Given the description of an element on the screen output the (x, y) to click on. 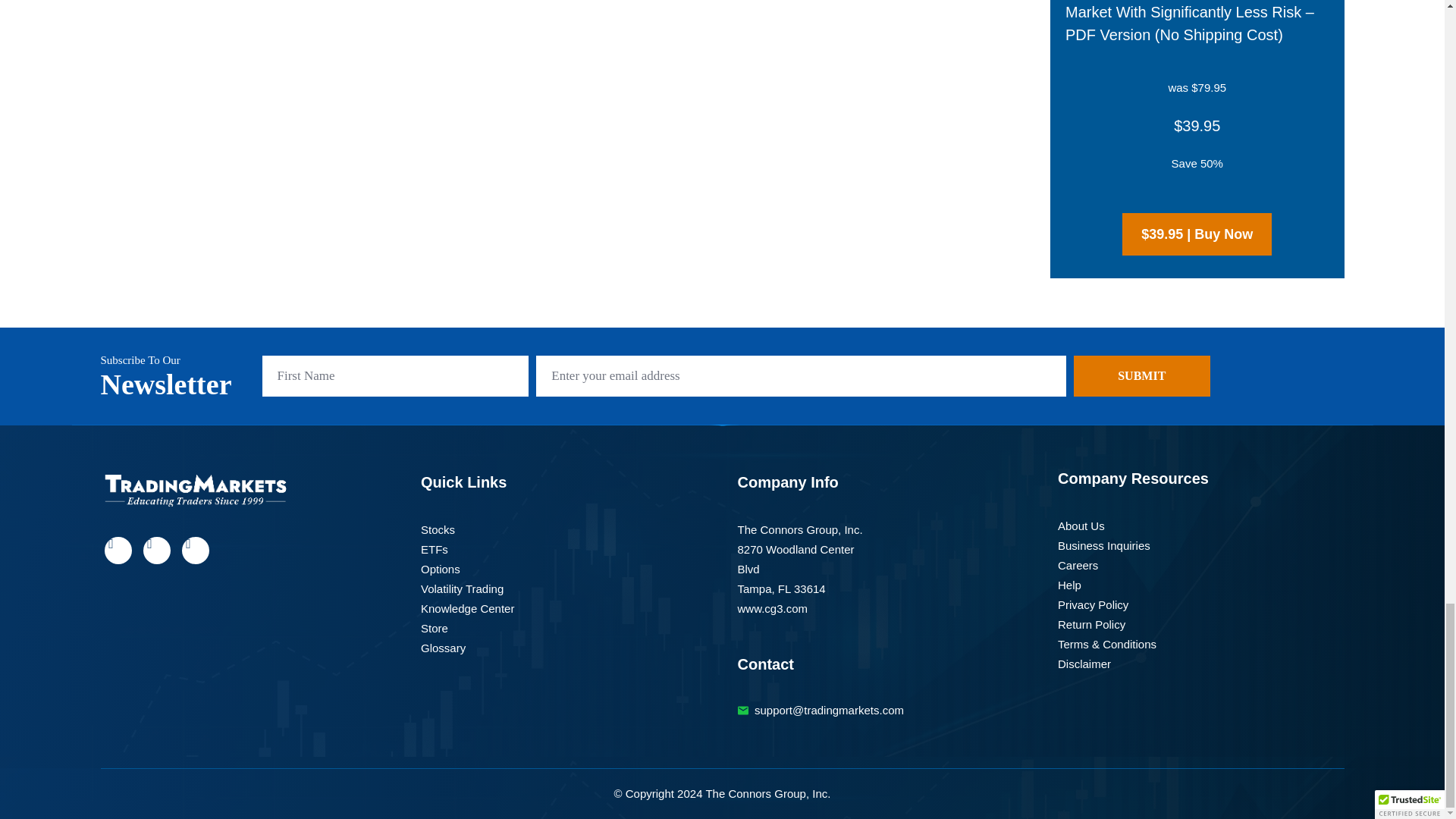
SUBMIT (1141, 375)
